Given the description of an element on the screen output the (x, y) to click on. 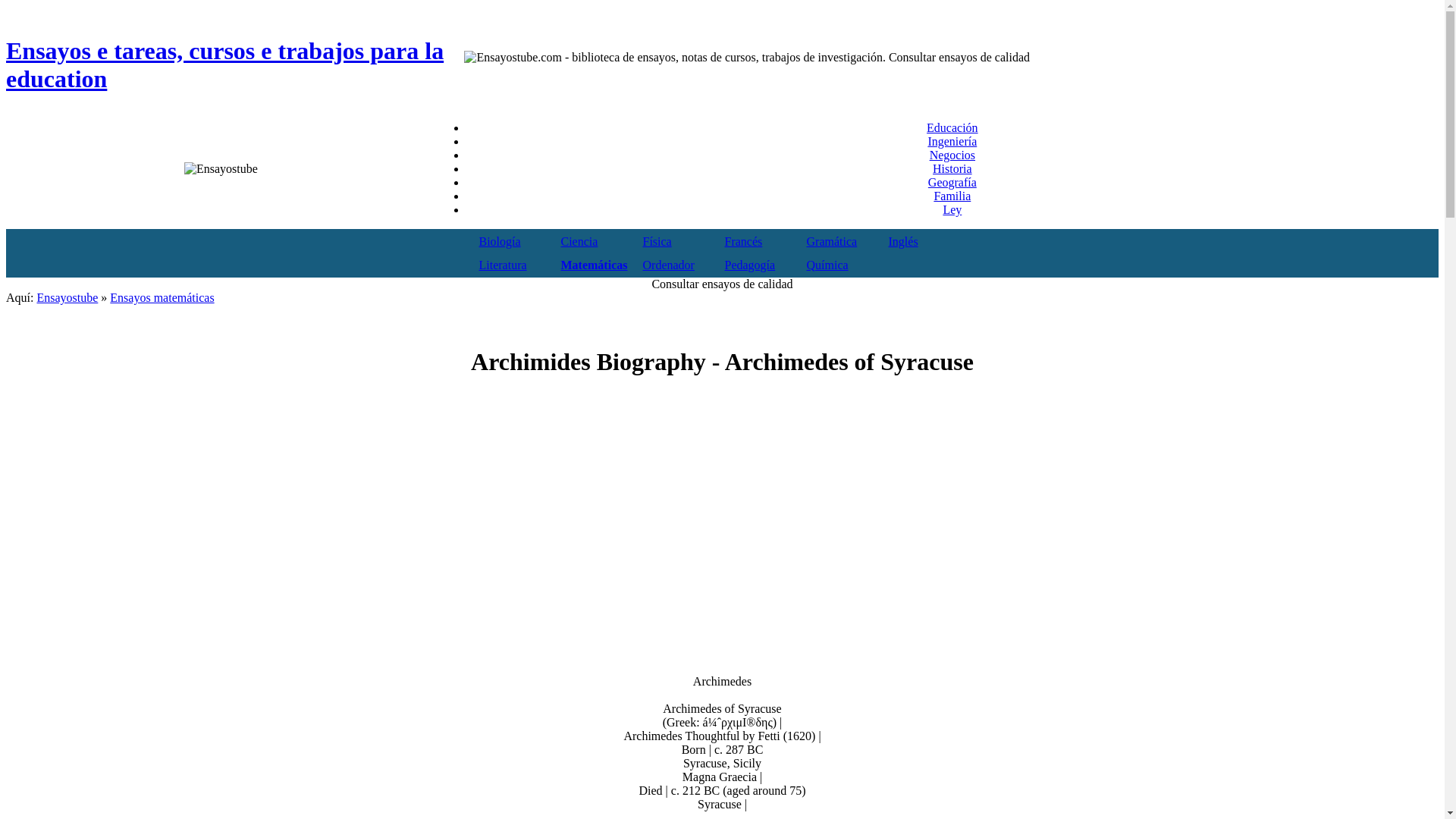
Ensayostube (66, 297)
Ley (951, 209)
Familia (952, 195)
Ensayos e trabajos finales - Ensayostube (66, 297)
Documentos de Ley (951, 209)
Literatura (503, 264)
Notas de cursos - Negocios (952, 154)
Ensayos e tareas, cursos e trabajos para la education (234, 64)
Historia (952, 168)
Negocios (952, 154)
